Given the description of an element on the screen output the (x, y) to click on. 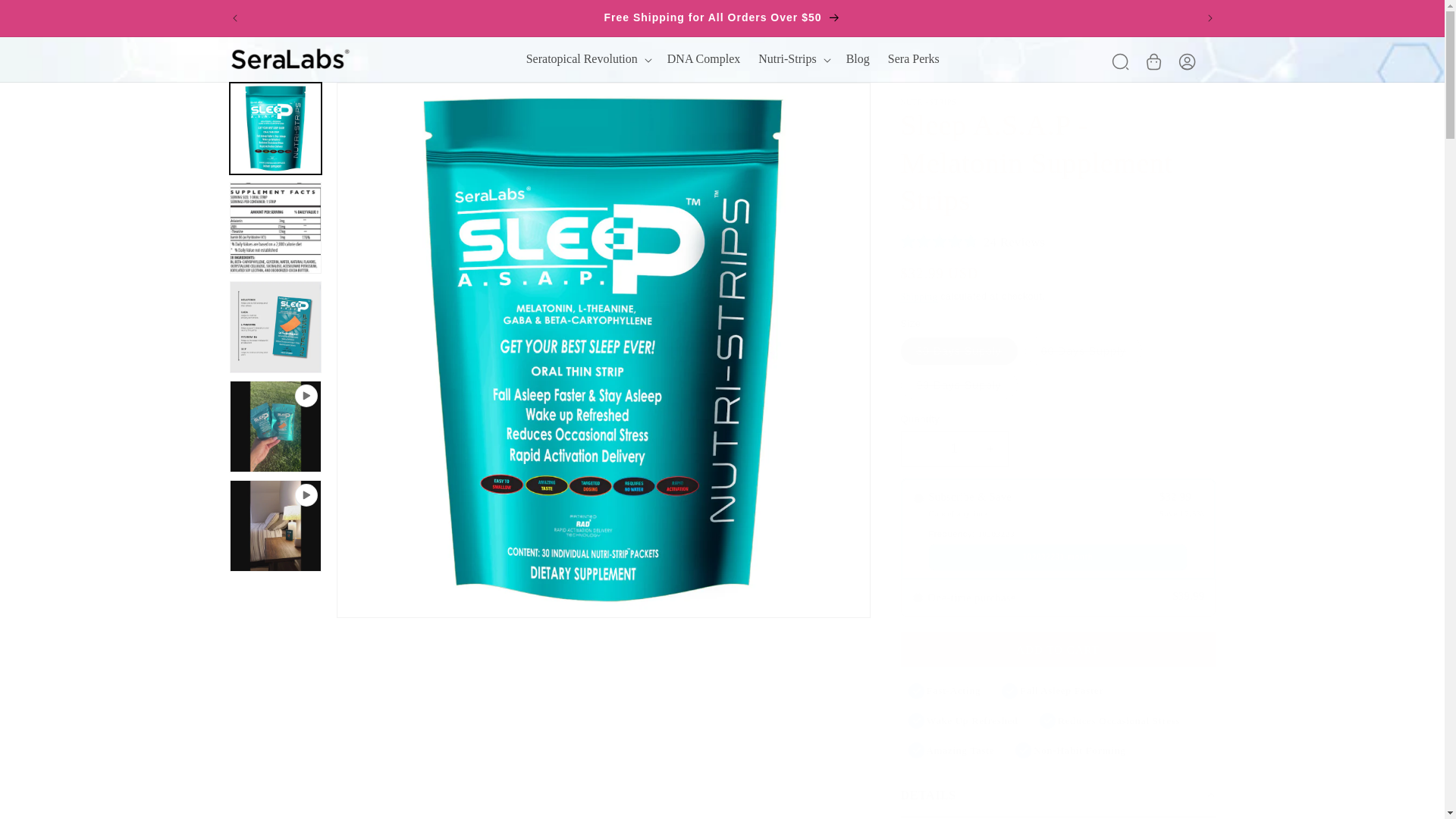
Skip to content (45, 17)
Blog (858, 59)
Skip to product information (381, 99)
Cart (1157, 59)
1 (955, 448)
Sera Perks (914, 59)
Log in (1191, 59)
on (917, 498)
DNA Complex (703, 59)
on (917, 597)
